Given the description of an element on the screen output the (x, y) to click on. 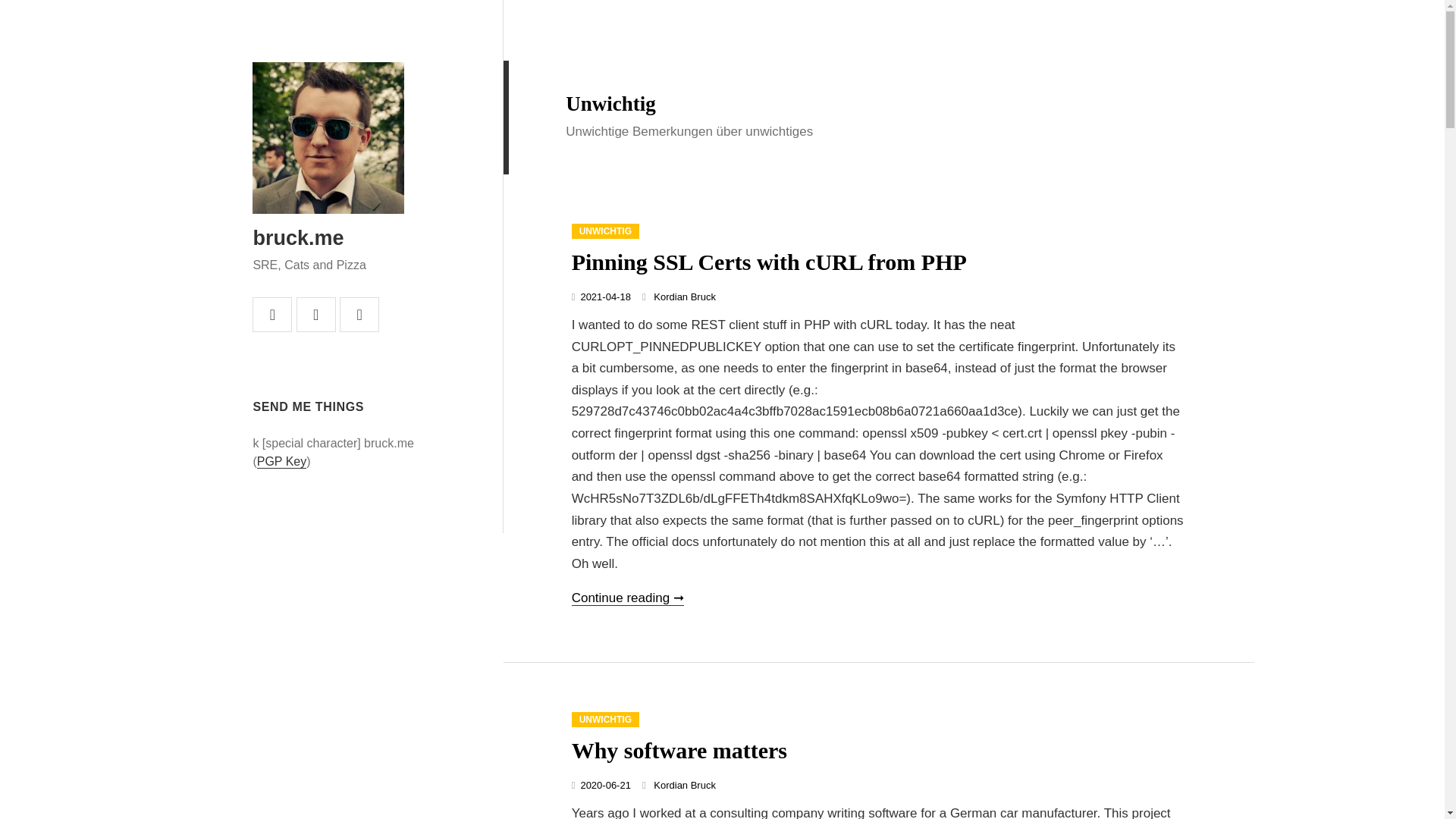
Keybase (358, 314)
2020-06-21 (604, 785)
Why software matters (679, 749)
UNWICHTIG (605, 231)
2021-04-18 (604, 296)
Pinning SSL Certs with cURL from PHP (769, 261)
PGP Key (282, 461)
Kordian Bruck (684, 296)
LinkedIn (316, 314)
UNWICHTIG (605, 719)
